Given the description of an element on the screen output the (x, y) to click on. 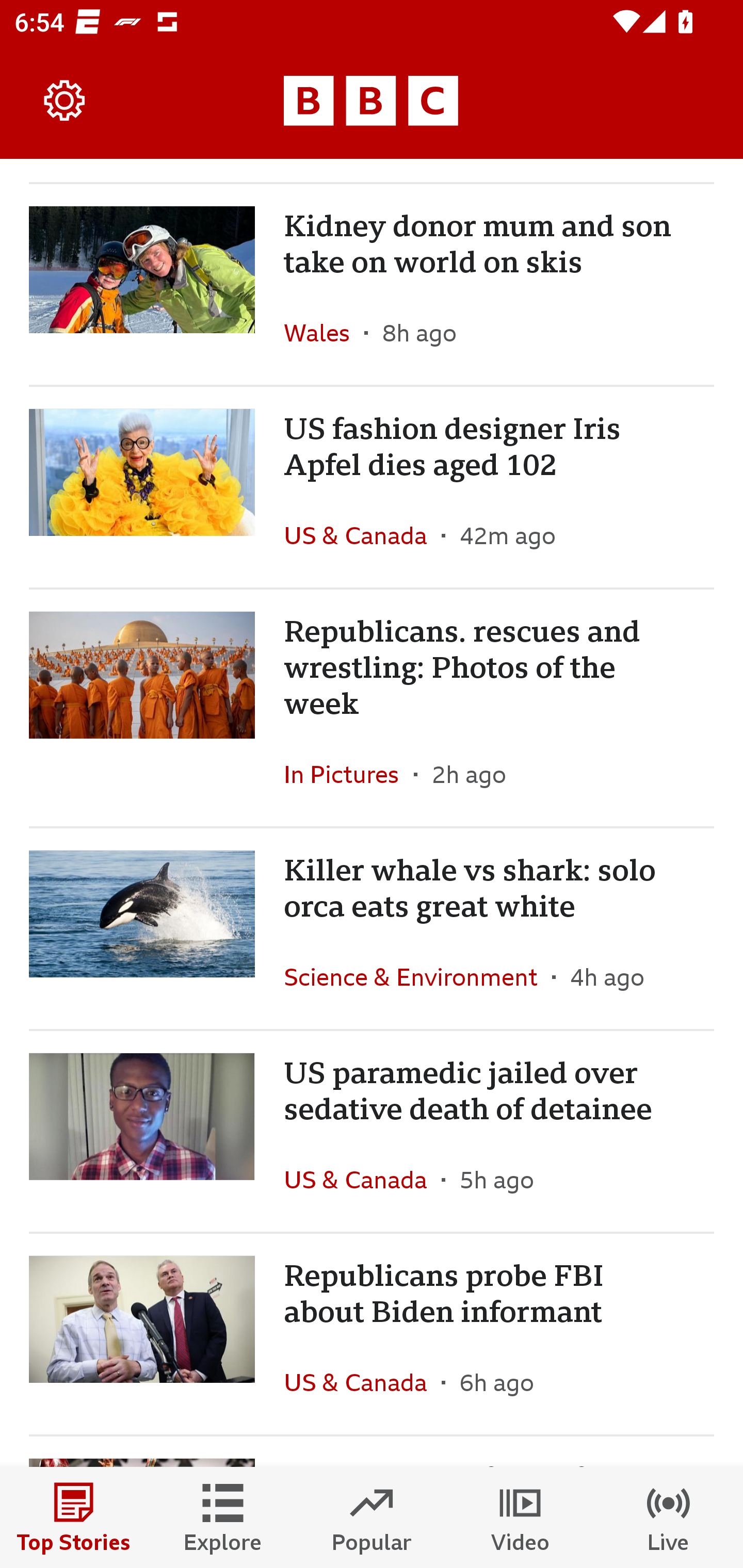
Settings (64, 100)
Wales In the section Wales (323, 332)
US & Canada In the section US & Canada (362, 535)
In Pictures In the section In Pictures (348, 774)
US & Canada In the section US & Canada (362, 1179)
US & Canada In the section US & Canada (362, 1381)
Explore (222, 1517)
Popular (371, 1517)
Video (519, 1517)
Live (668, 1517)
